Given the description of an element on the screen output the (x, y) to click on. 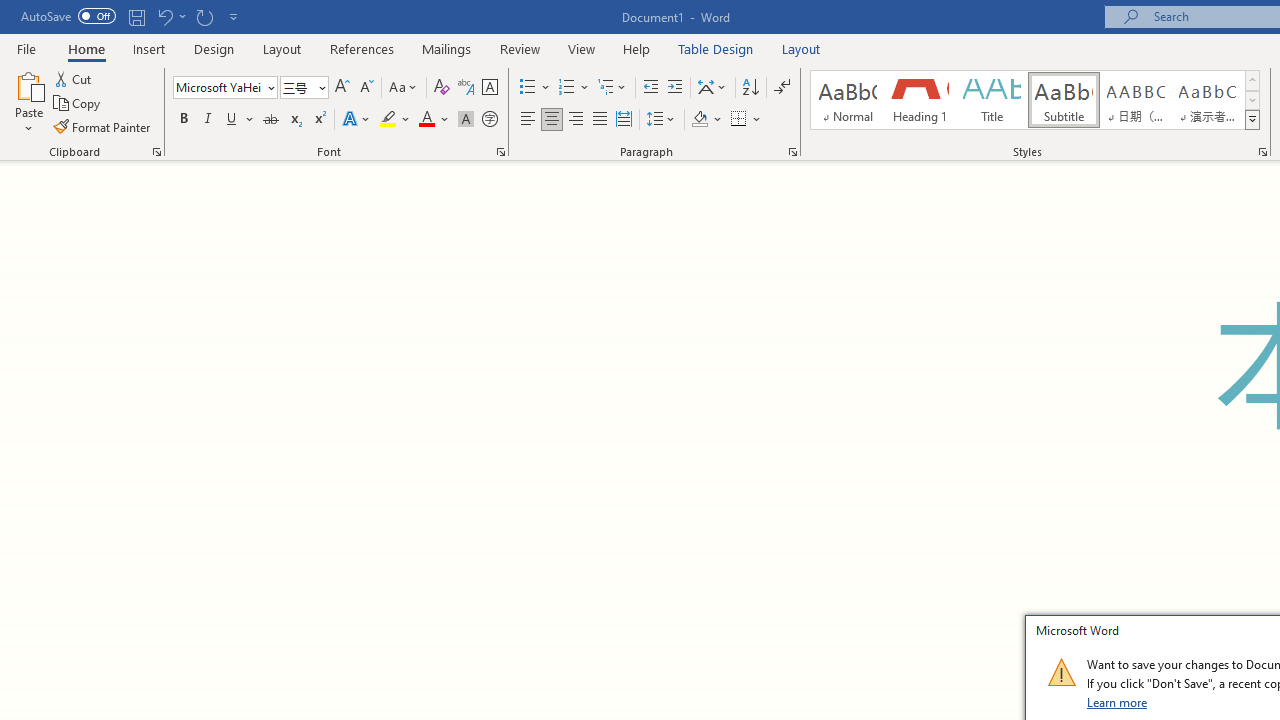
Enclose Characters... (489, 119)
Justify (599, 119)
Format Painter (103, 126)
Align Left (527, 119)
Shading (706, 119)
Character Shading (465, 119)
Distributed (623, 119)
Phonetic Guide... (465, 87)
Learn more (1118, 702)
